Given the description of an element on the screen output the (x, y) to click on. 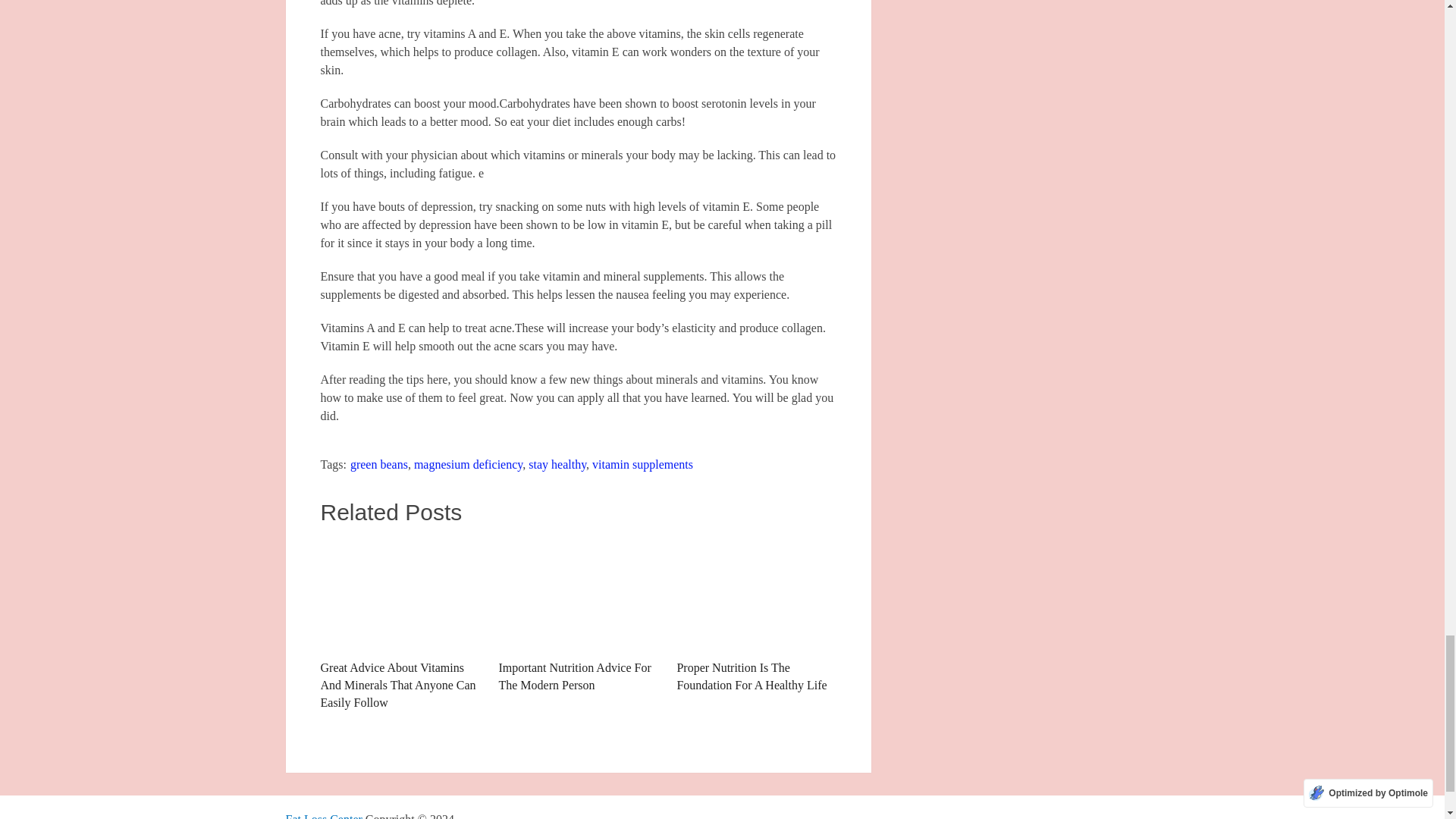
Proper Nutrition Is The Foundation For A Healthy Life (756, 615)
Important Nutrition Advice For The Modern Person (577, 615)
Proper Nutrition Is The Foundation For A Healthy Life (756, 615)
stay healthy (557, 463)
Important Nutrition Advice For The Modern Person (577, 594)
green beans (378, 463)
magnesium deficiency (467, 463)
Important Nutrition Advice For The Modern Person (577, 615)
Proper Nutrition Is The Foundation For A Healthy Life (756, 594)
You may find help in The Fat Loss Center. (323, 816)
Fat Loss Center (323, 816)
vitamin supplements (642, 463)
